Given the description of an element on the screen output the (x, y) to click on. 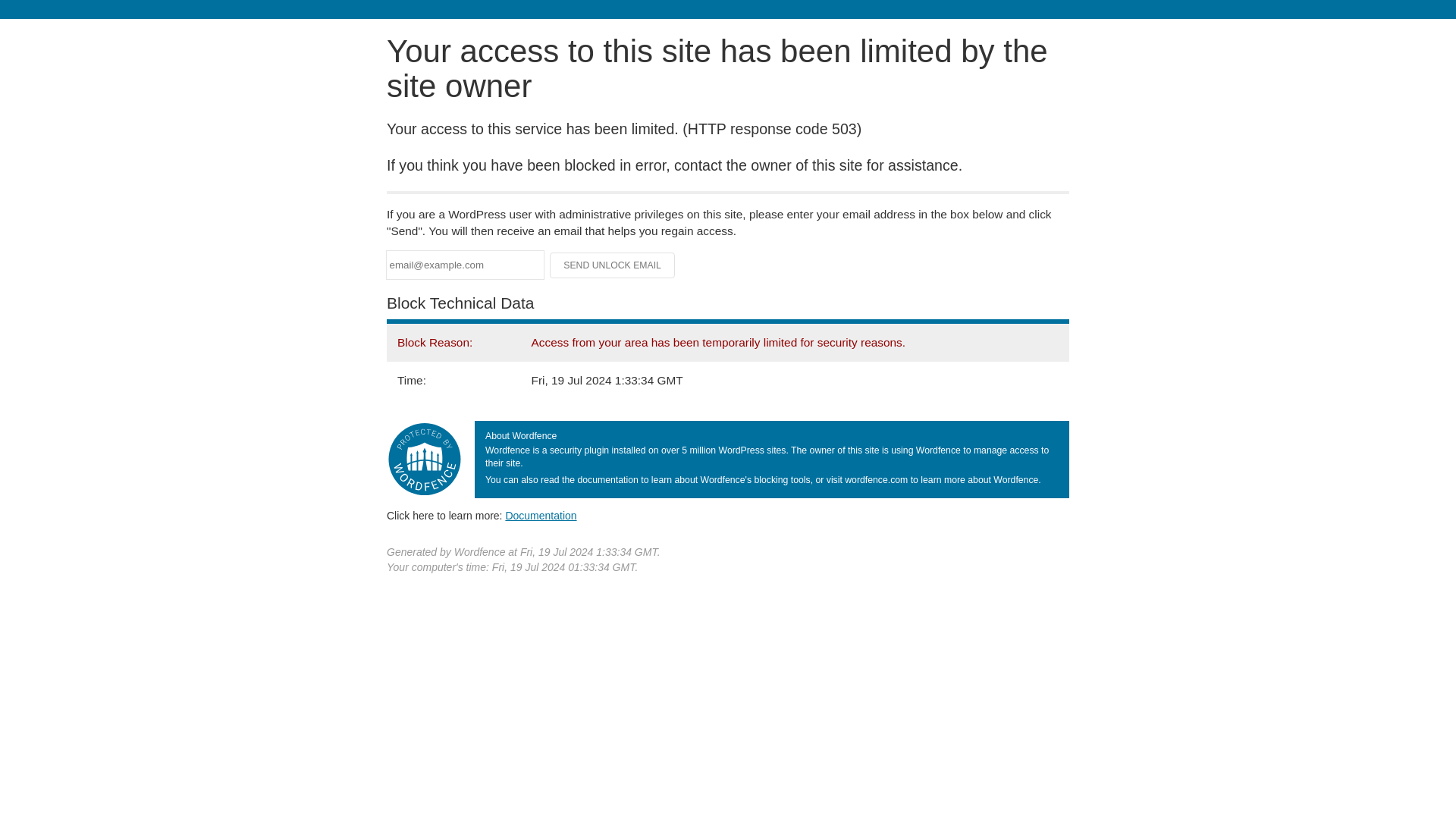
Send Unlock Email (612, 265)
Send Unlock Email (612, 265)
Documentation (540, 515)
